Given the description of an element on the screen output the (x, y) to click on. 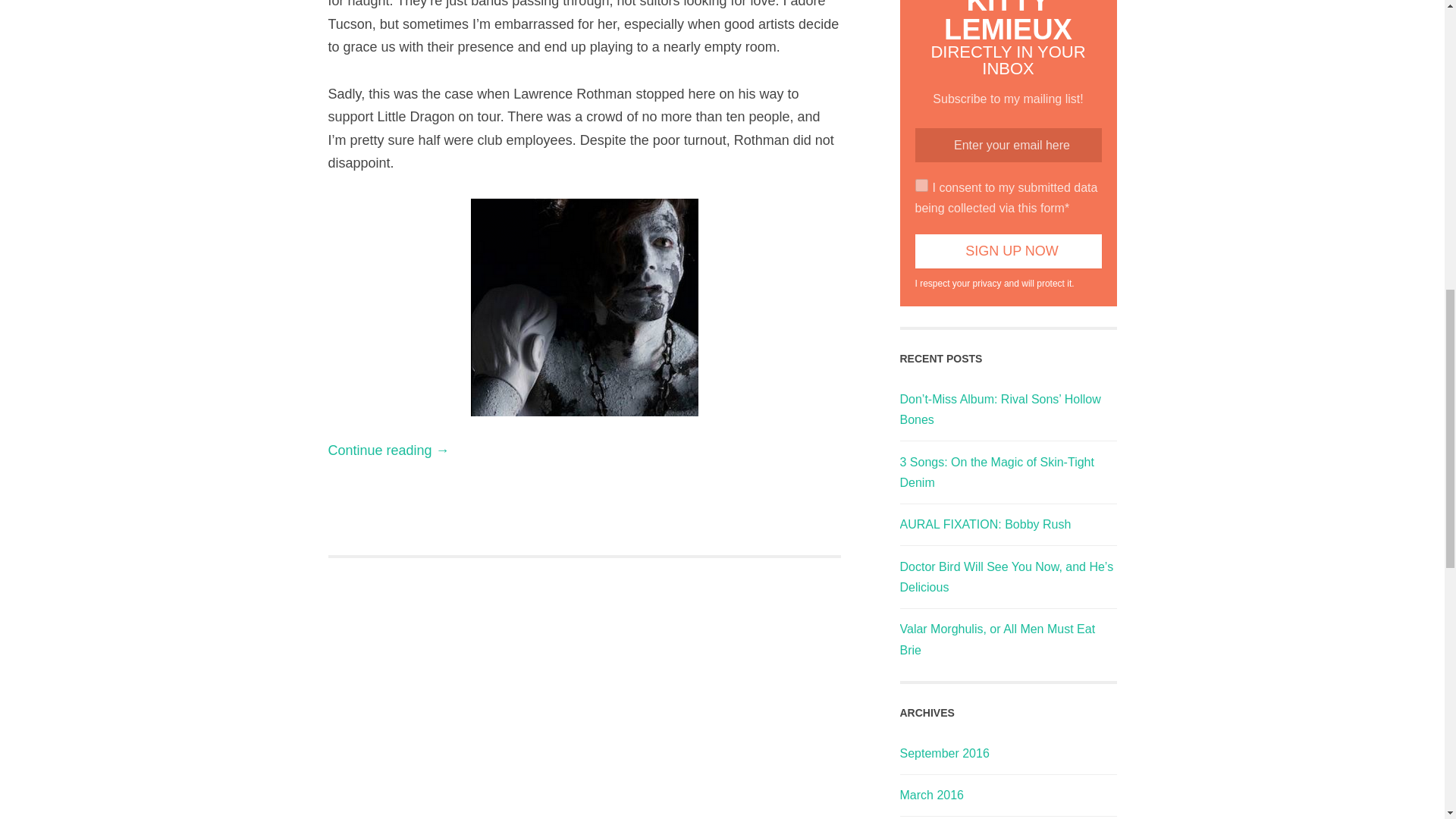
September 2016 (943, 753)
Sign Up Now (1007, 250)
Sign Up Now (1007, 250)
AURAL FIXATION: Bobby Rush (984, 523)
Enter your email here (1007, 144)
3 Songs: On the Magic of Skin-Tight Denim (996, 471)
on (920, 185)
March 2016 (931, 794)
Valar Morghulis, or All Men Must Eat Brie (996, 639)
